Given the description of an element on the screen output the (x, y) to click on. 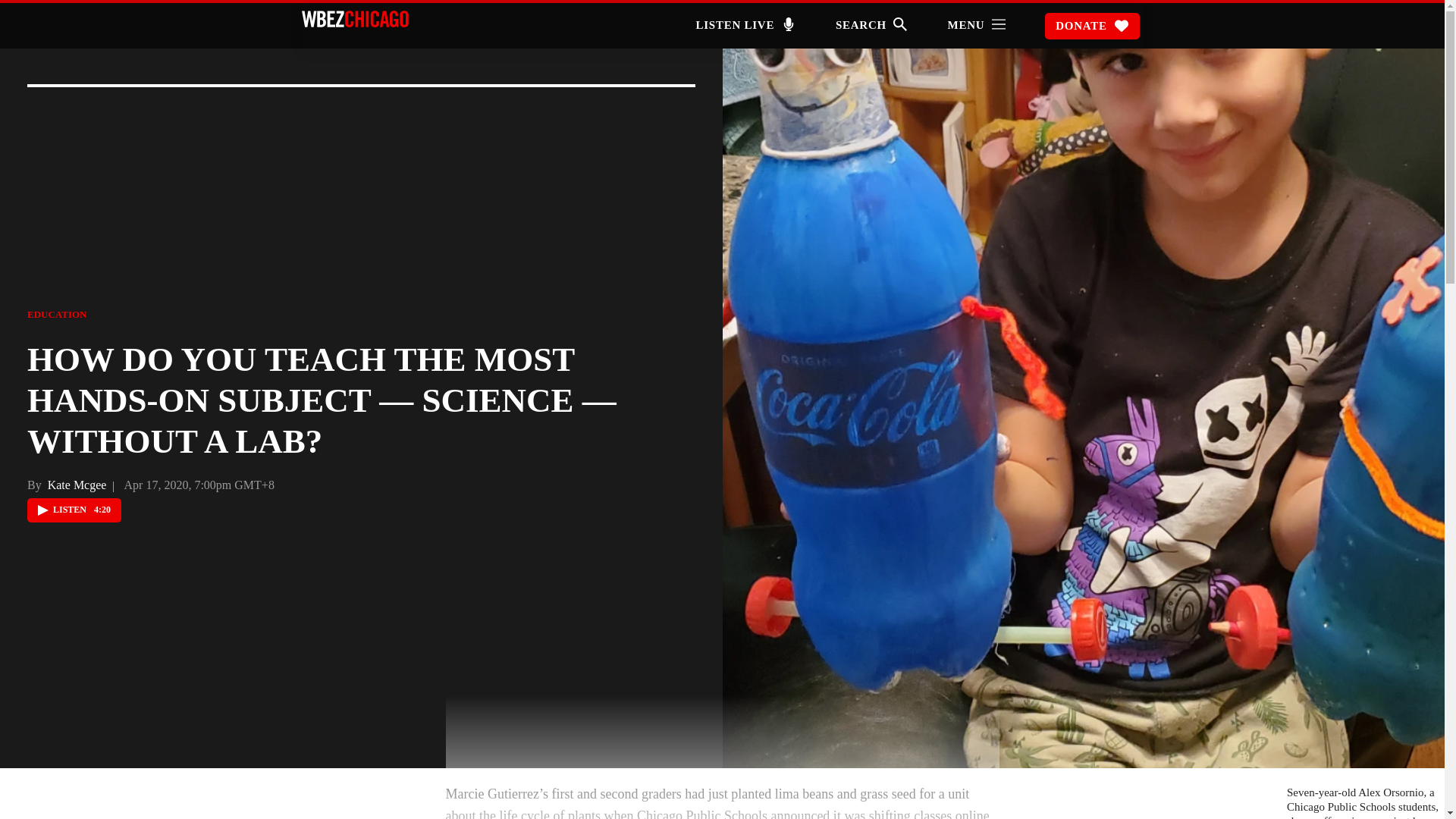
SEARCH (871, 27)
